Given the description of an element on the screen output the (x, y) to click on. 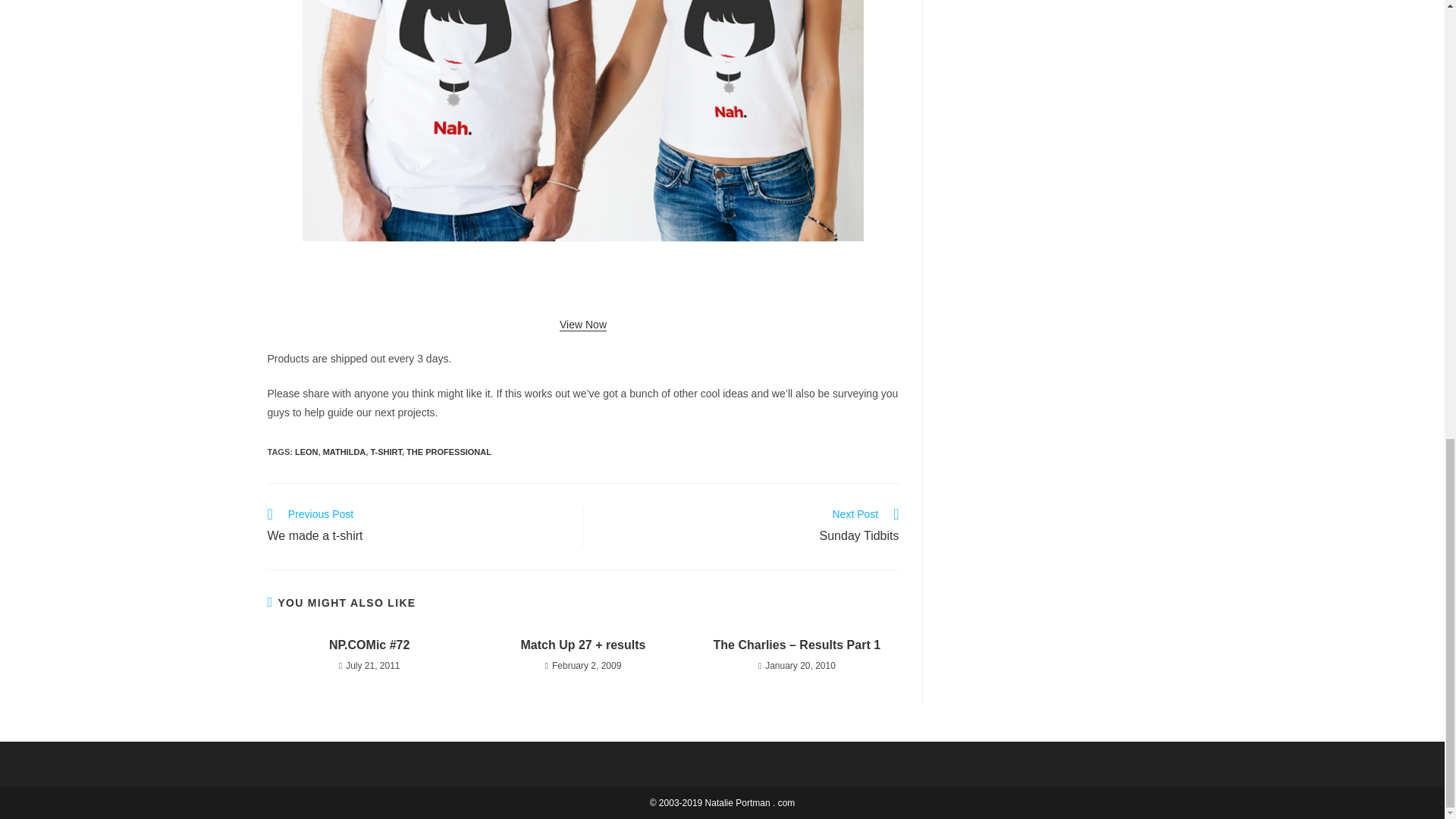
MATHILDA (748, 526)
THE PROFESSIONAL (344, 451)
T-SHIRT (449, 451)
View Now (385, 451)
LEON (583, 324)
